Given the description of an element on the screen output the (x, y) to click on. 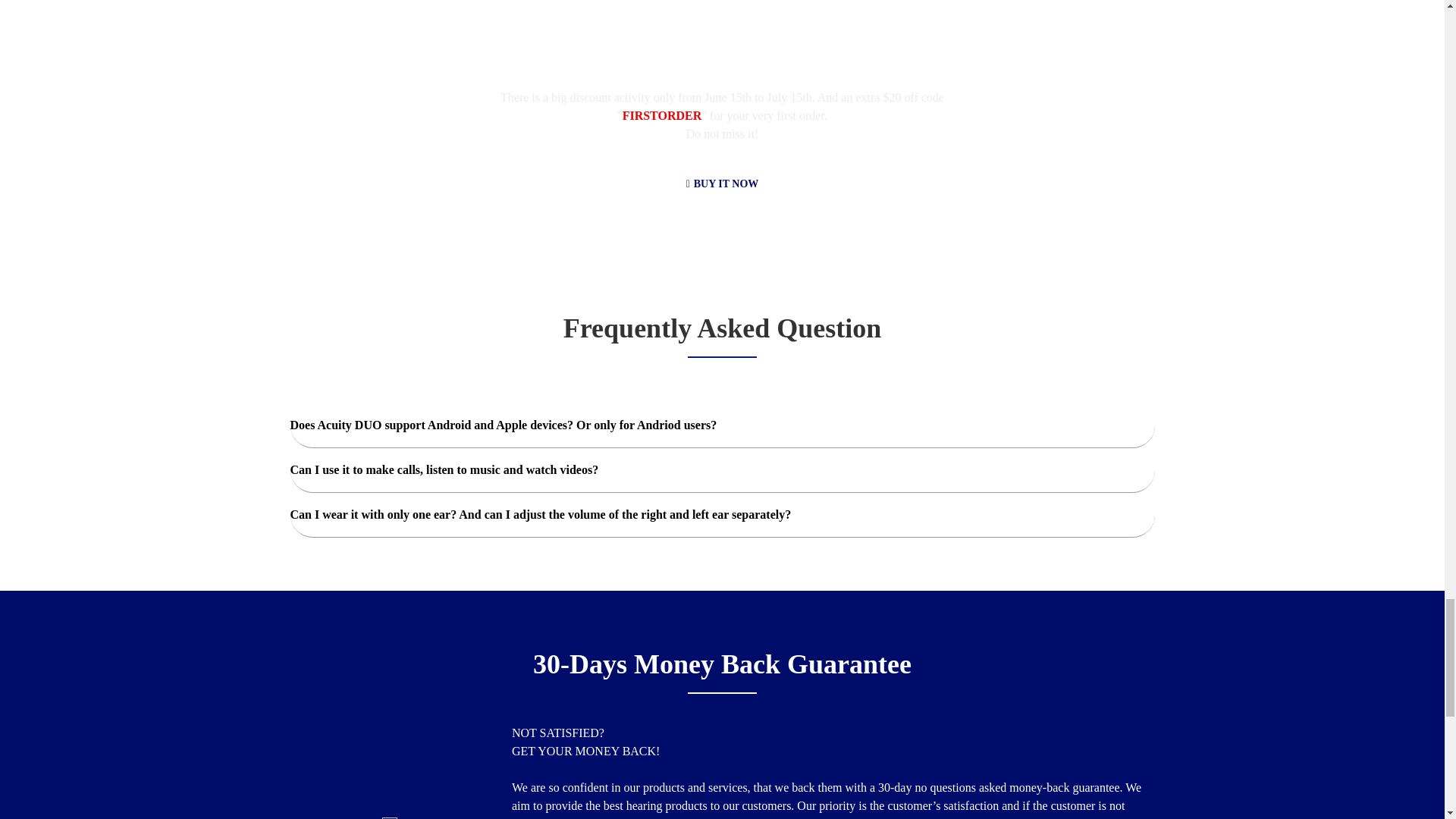
BUY IT NOW (722, 183)
